Given the description of an element on the screen output the (x, y) to click on. 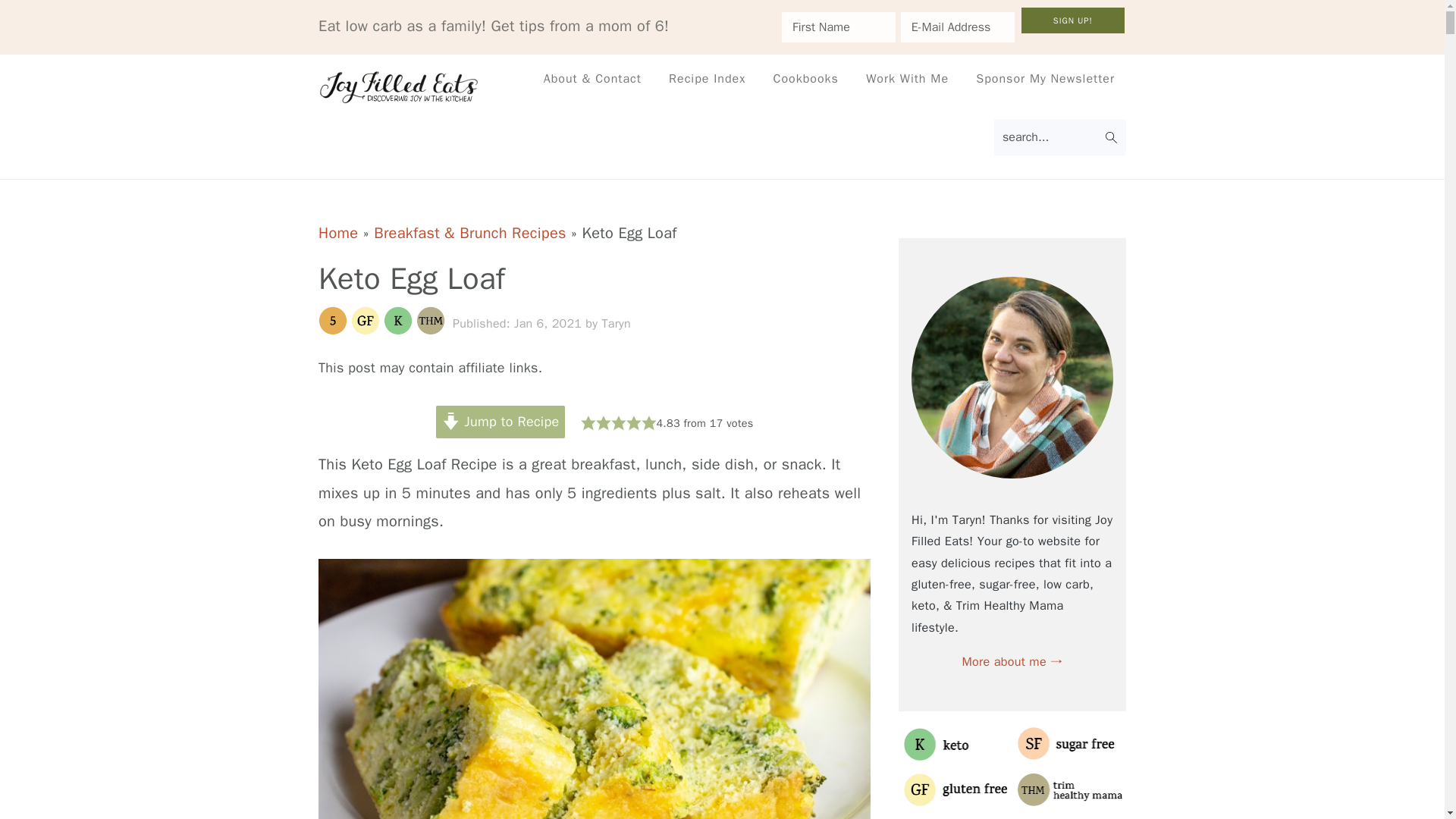
Recipe Index (707, 79)
Joy Filled Eats (399, 96)
Sign Up! (1073, 20)
Joy Filled Eats (399, 86)
Sign Up! (1073, 20)
